Given the description of an element on the screen output the (x, y) to click on. 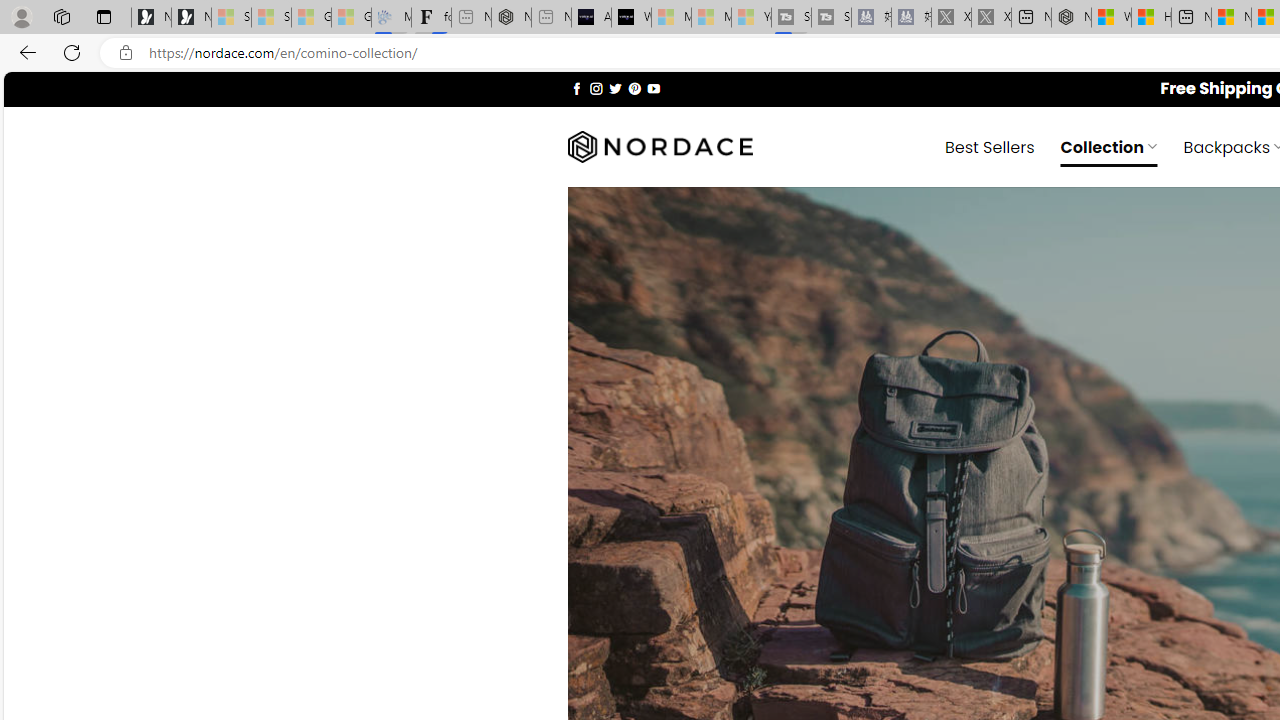
Follow on YouTube (653, 88)
AI Voice Changer for PC and Mac - Voice.ai (591, 17)
Follow on Instagram (596, 88)
Microsoft Start Sports - Sleeping (671, 17)
Newsletter Sign Up (191, 17)
